Given the description of an element on the screen output the (x, y) to click on. 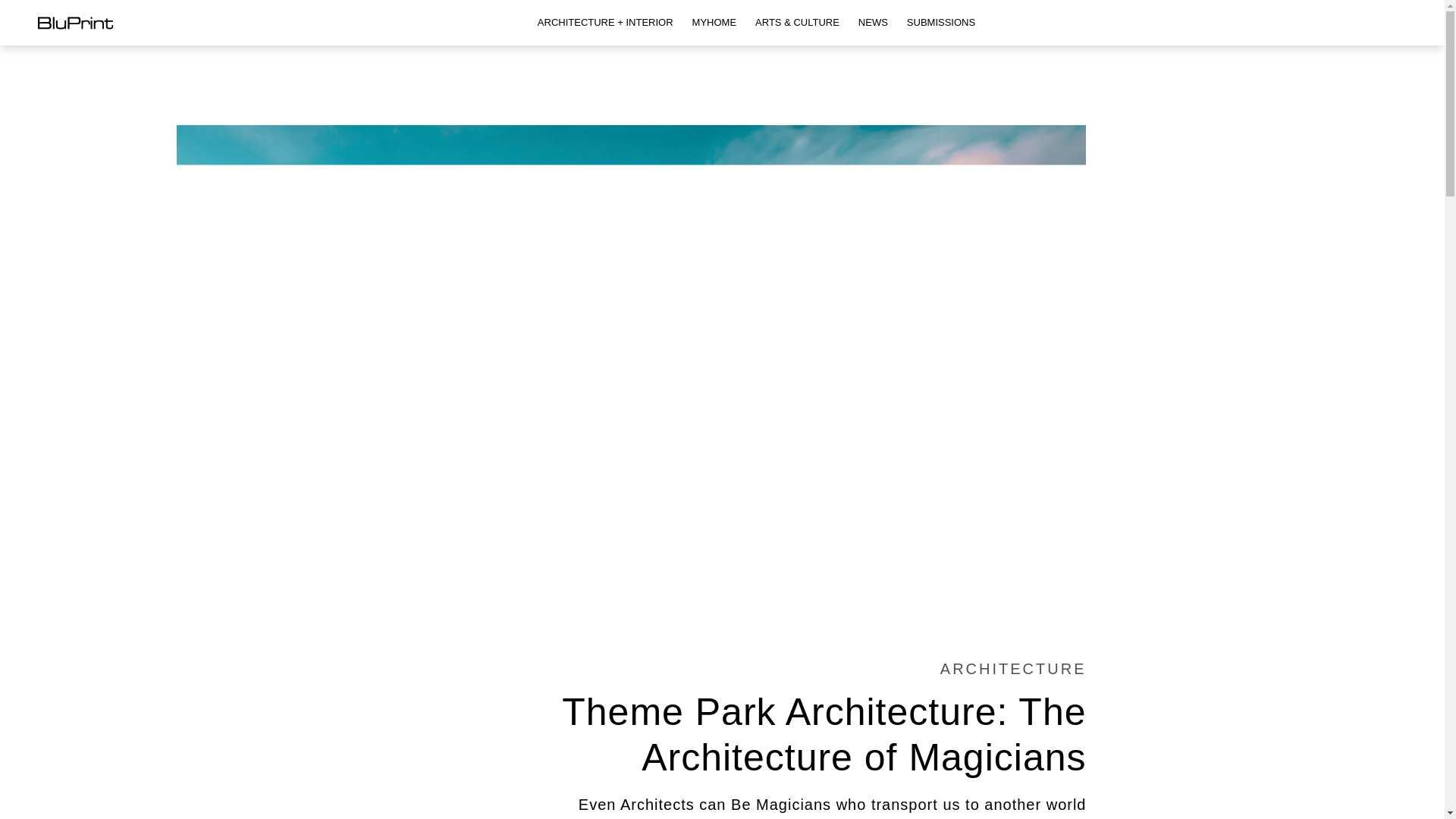
NEWS (872, 22)
Search (9, 8)
SUBMISSIONS (940, 22)
MYHOME (714, 22)
ARCHITECTURE (1013, 668)
